Given the description of an element on the screen output the (x, y) to click on. 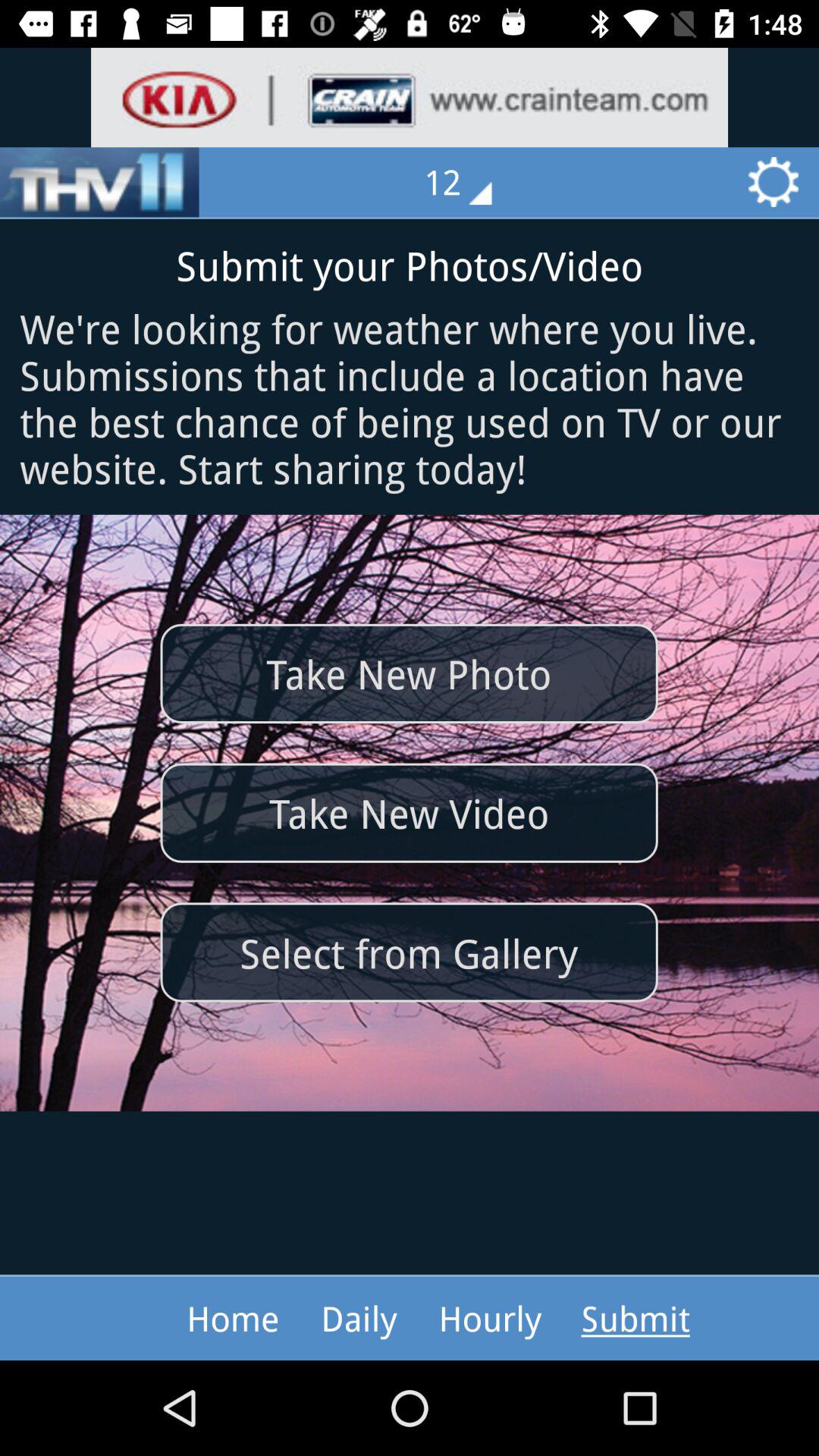
launch item below the take new video item (409, 952)
